Given the description of an element on the screen output the (x, y) to click on. 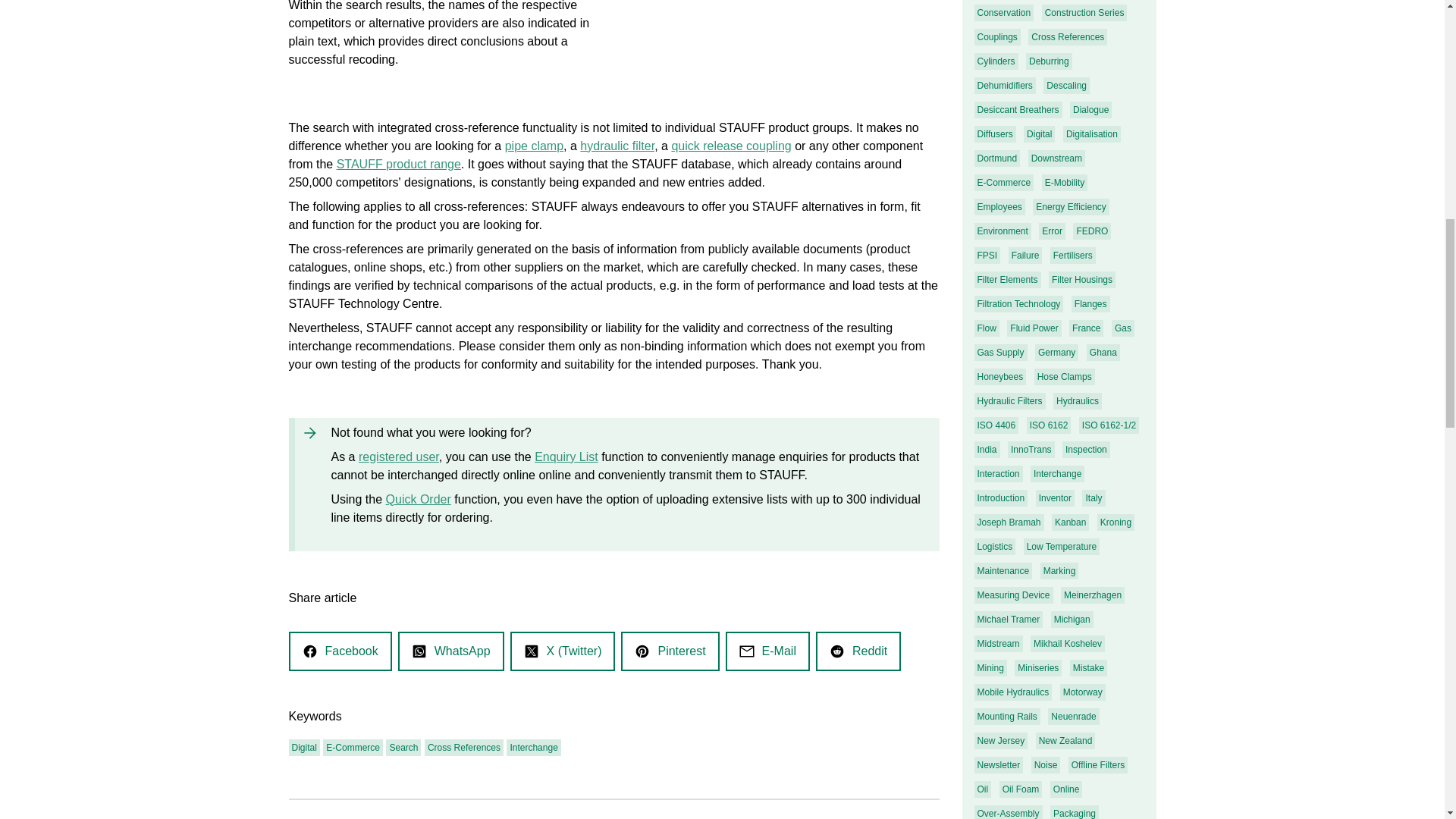
Enquiry List (566, 456)
quick release coupling (730, 145)
hydraulic filter (616, 145)
Quick Order (418, 499)
STAUFF product range (398, 164)
registered user (398, 456)
pipe clamp (534, 145)
